Given the description of an element on the screen output the (x, y) to click on. 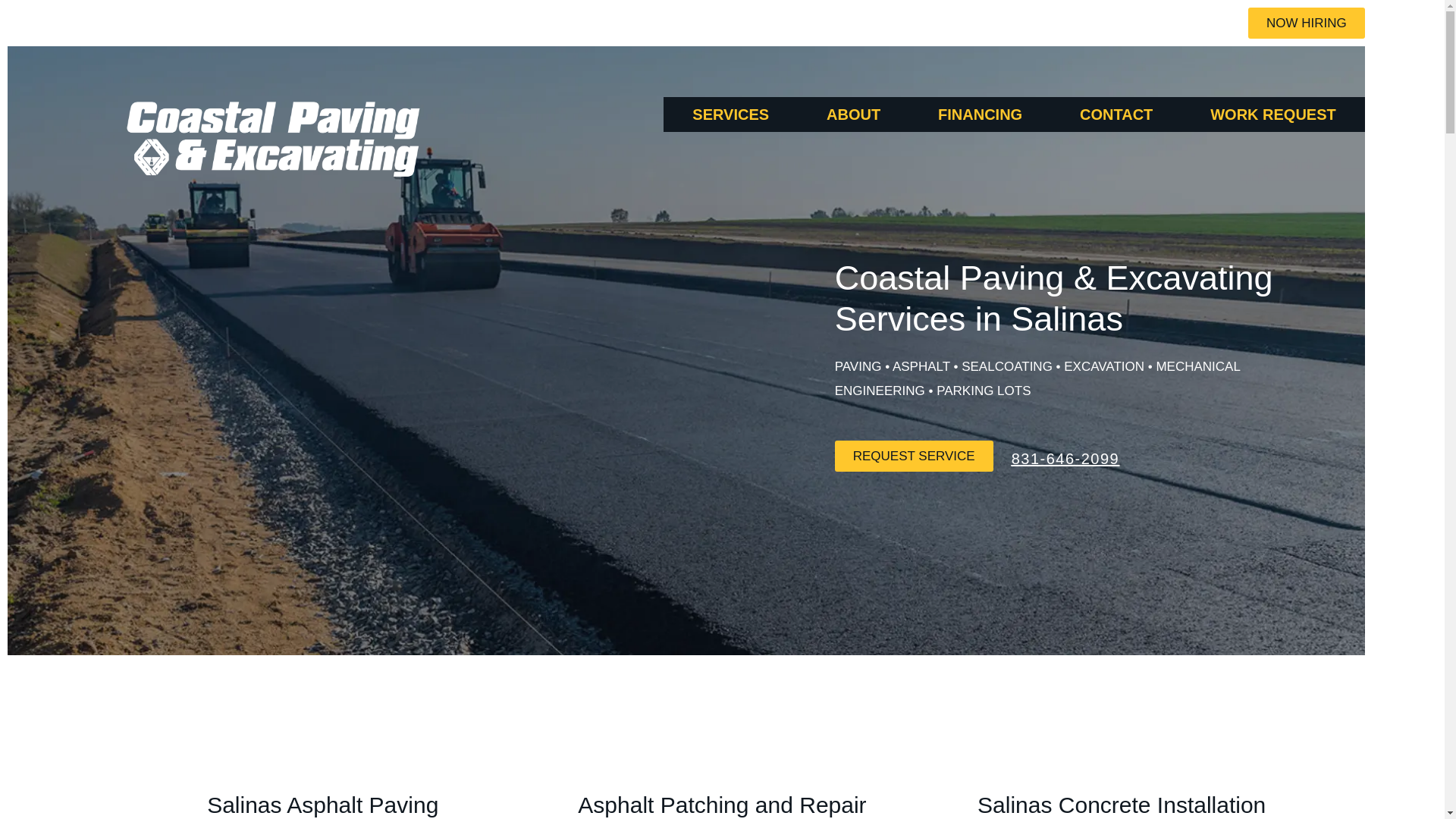
FINANCING (979, 114)
SERVICES (730, 114)
NOW HIRING (1306, 22)
WORK REQUEST (1272, 114)
CONTACT (1115, 114)
ABOUT (852, 114)
